Given the description of an element on the screen output the (x, y) to click on. 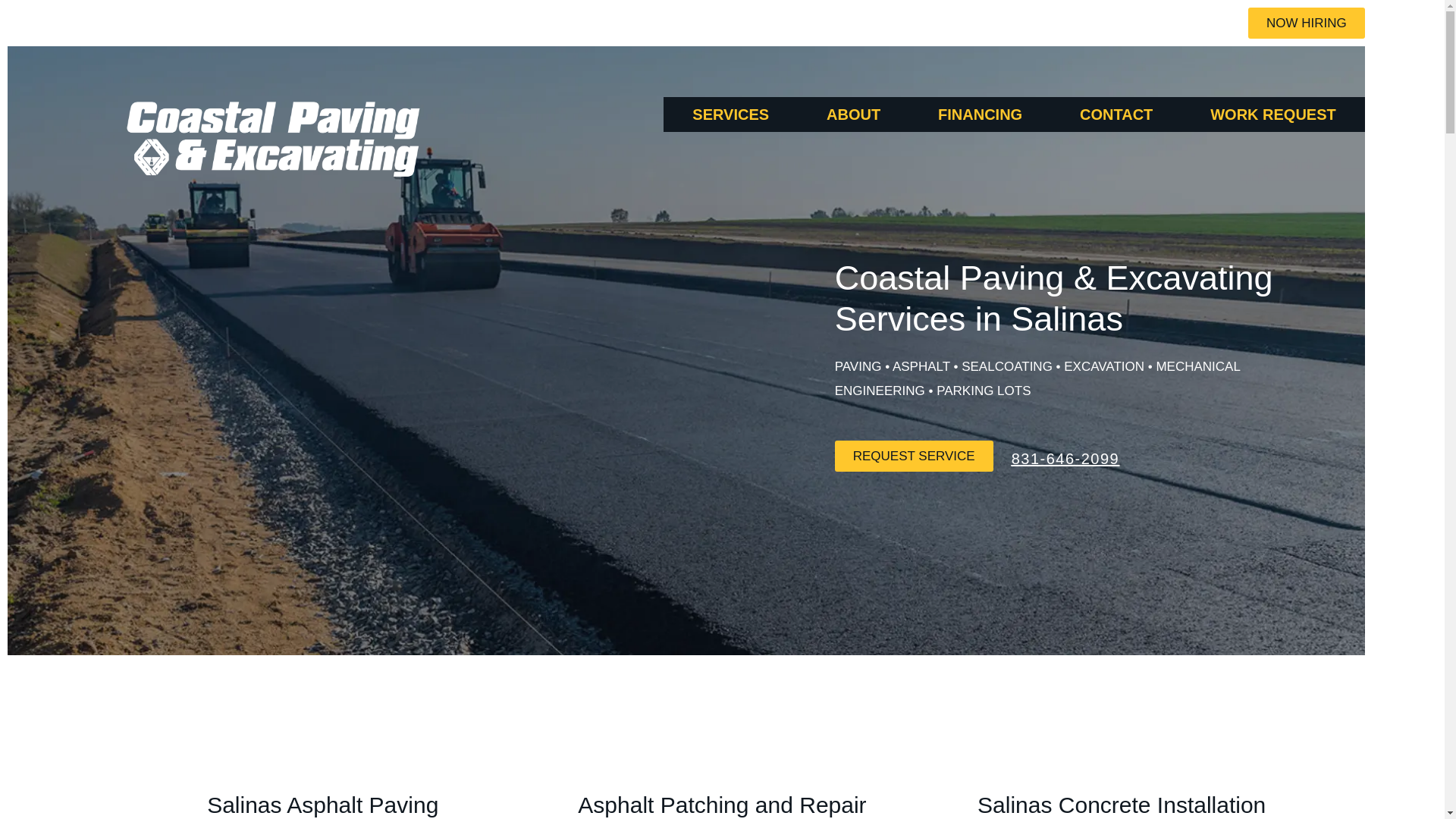
FINANCING (979, 114)
SERVICES (730, 114)
NOW HIRING (1306, 22)
WORK REQUEST (1272, 114)
CONTACT (1115, 114)
ABOUT (852, 114)
